Given the description of an element on the screen output the (x, y) to click on. 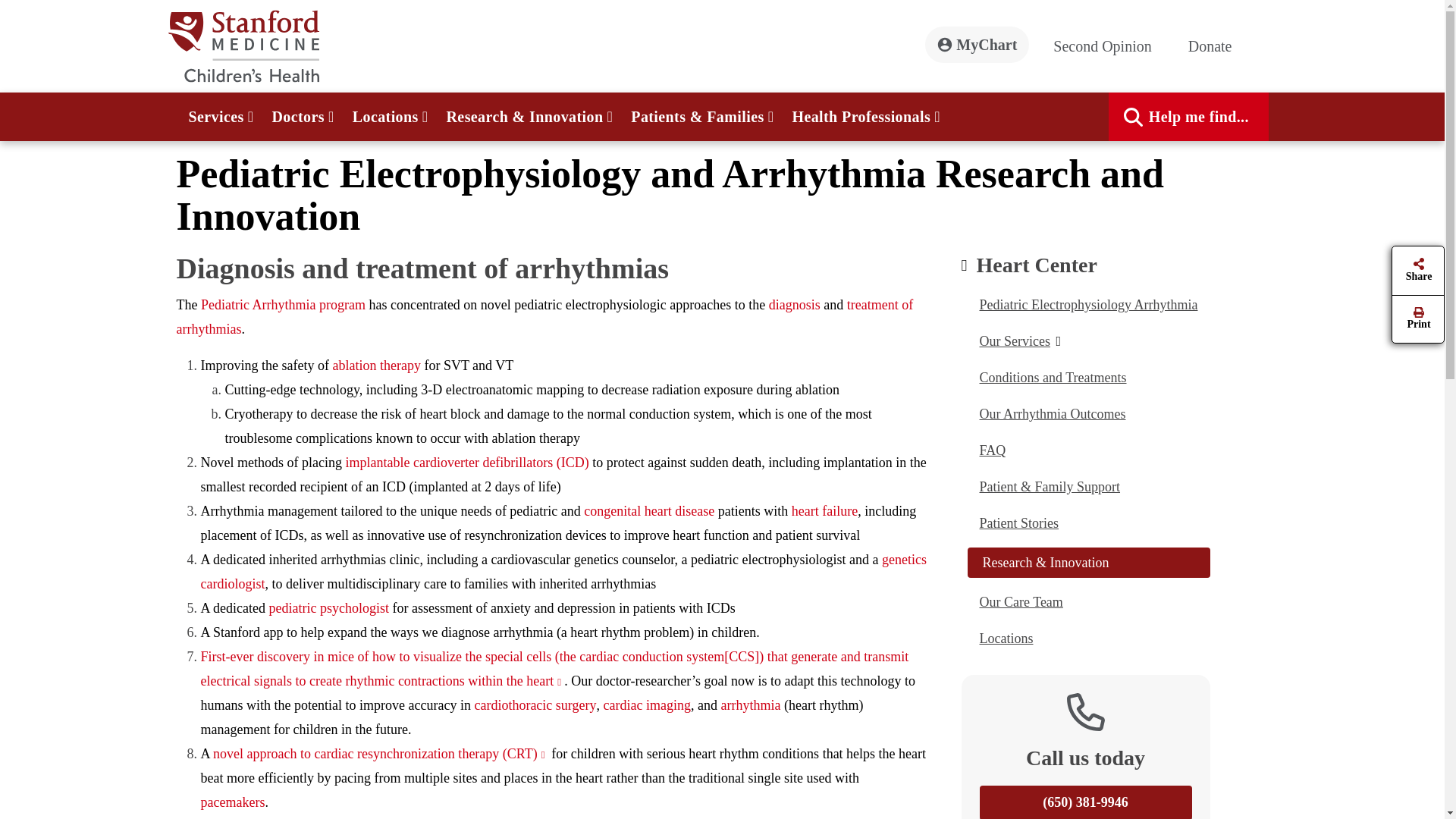
Second Opinion (1107, 46)
MyChart (976, 44)
Donate (1216, 46)
